Given the description of an element on the screen output the (x, y) to click on. 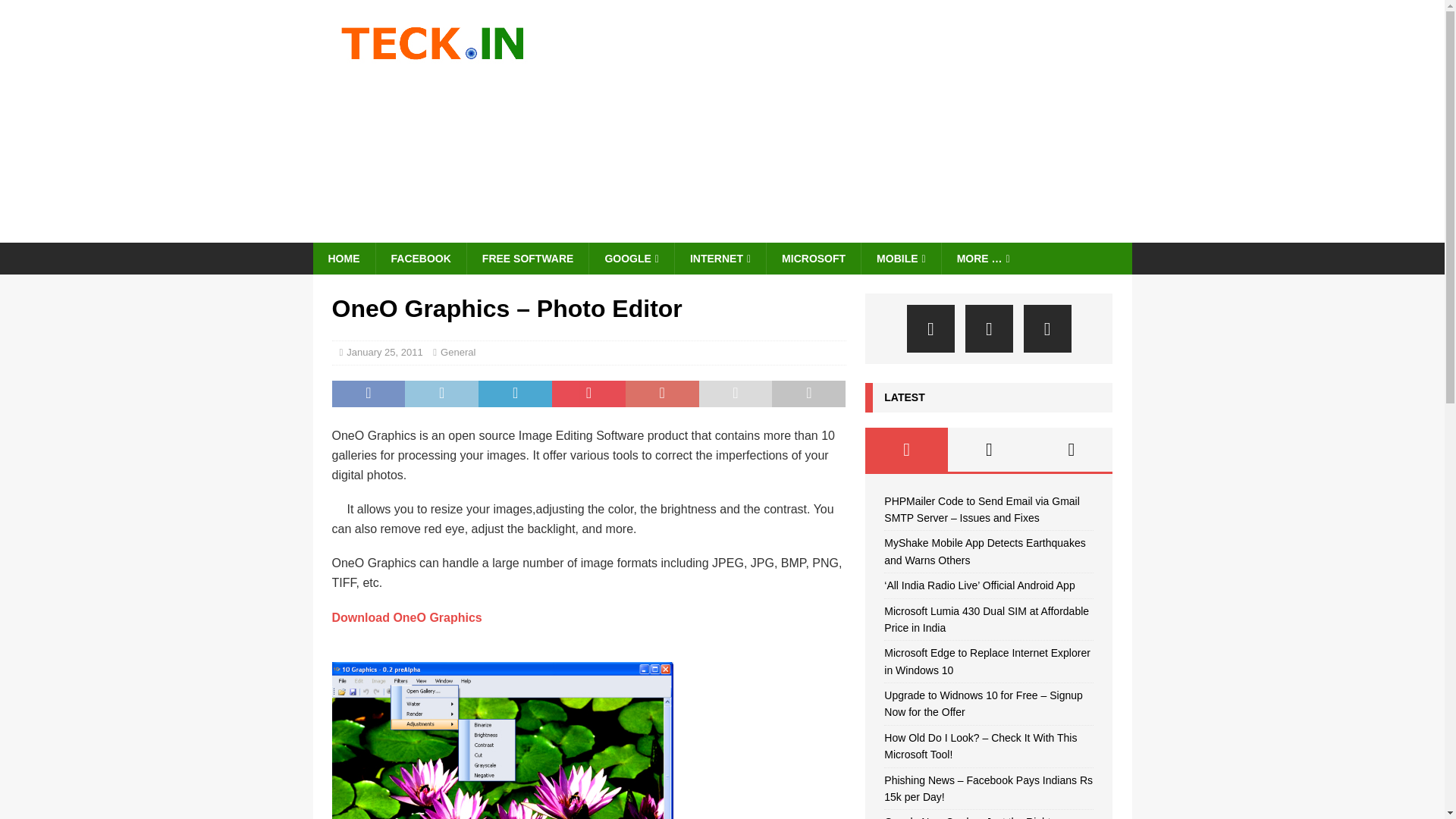
FREE SOFTWARE (527, 258)
GOOGLE (631, 258)
HOME (343, 258)
FACEBOOK (419, 258)
INTERNET (719, 258)
